Given the description of an element on the screen output the (x, y) to click on. 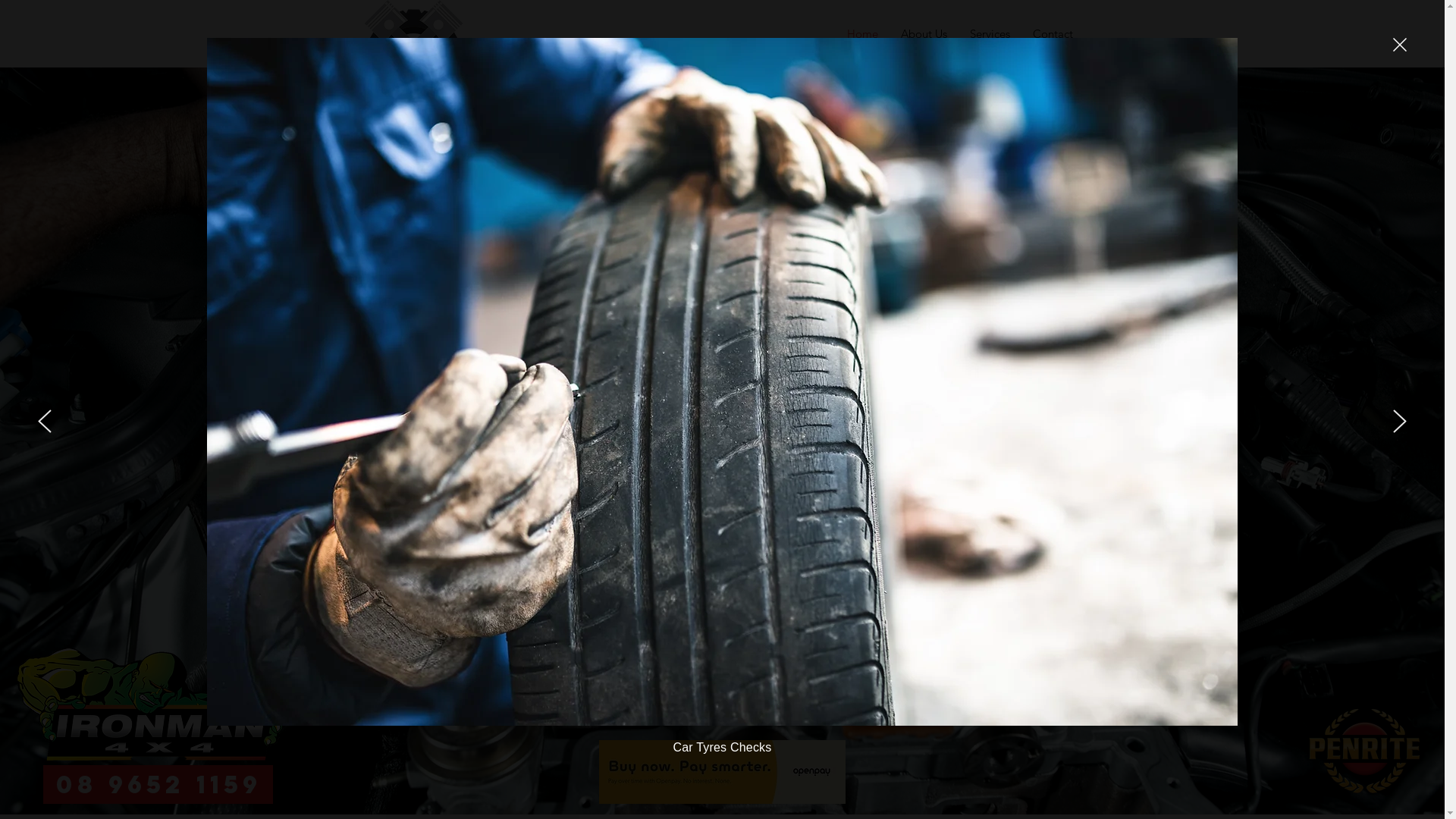
About Us Element type: text (922, 34)
REQUEST FREE QUOTE Element type: text (484, 337)
Services Element type: text (989, 34)
Contact Element type: text (1051, 34)
Home Element type: text (862, 34)
08 9652 1159 Element type: text (158, 784)
Impressive Text Slider Element type: hover (722, 441)
